Given the description of an element on the screen output the (x, y) to click on. 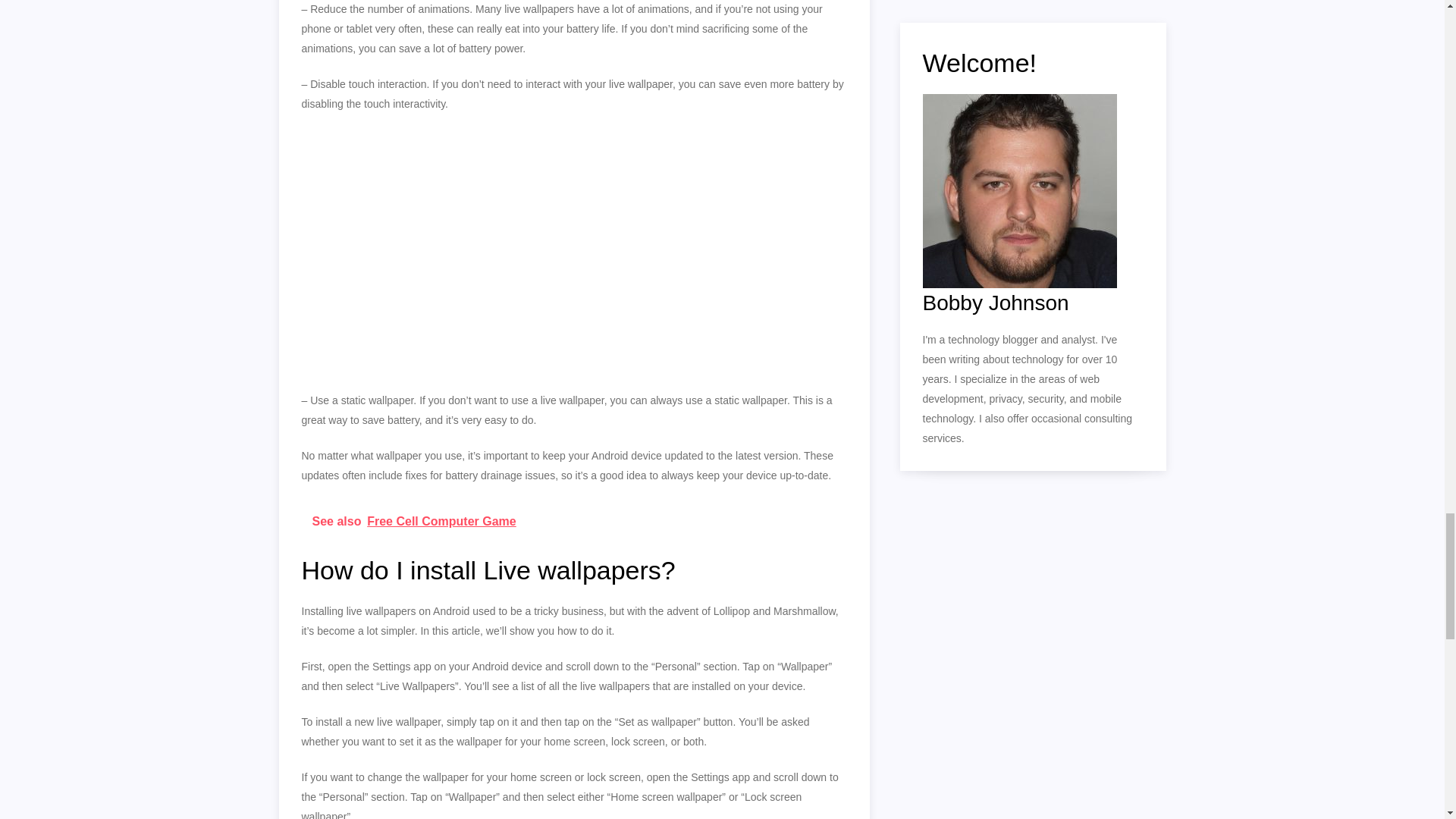
See also  Free Cell Computer Game (574, 521)
